Given the description of an element on the screen output the (x, y) to click on. 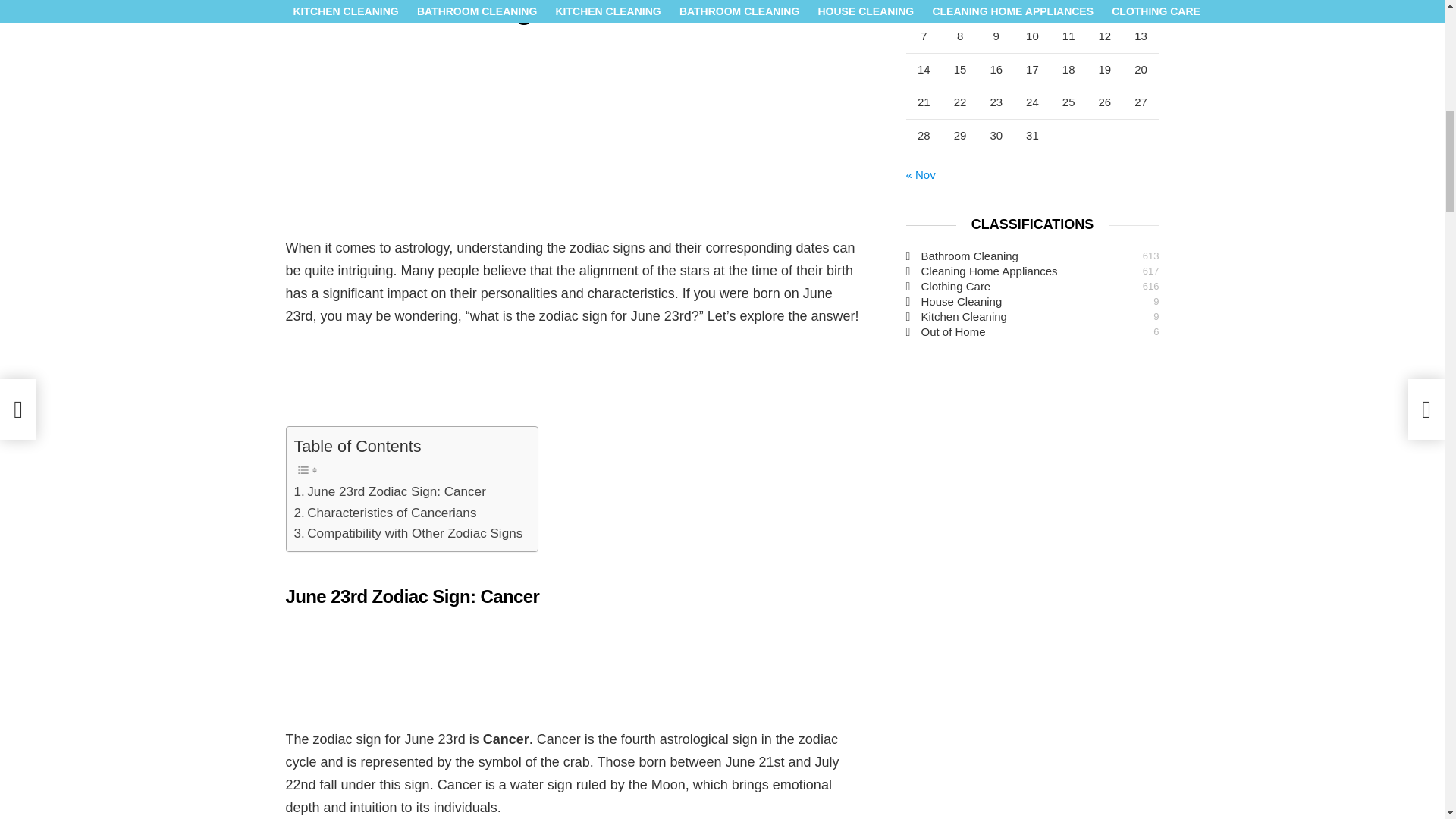
Compatibility with Other Zodiac Signs (408, 533)
Compatibility with Other Zodiac Signs (408, 533)
Characteristics of Cancerians (385, 512)
Characteristics of Cancerians (385, 512)
June 23rd Zodiac Sign: Cancer (390, 491)
